Given the description of an element on the screen output the (x, y) to click on. 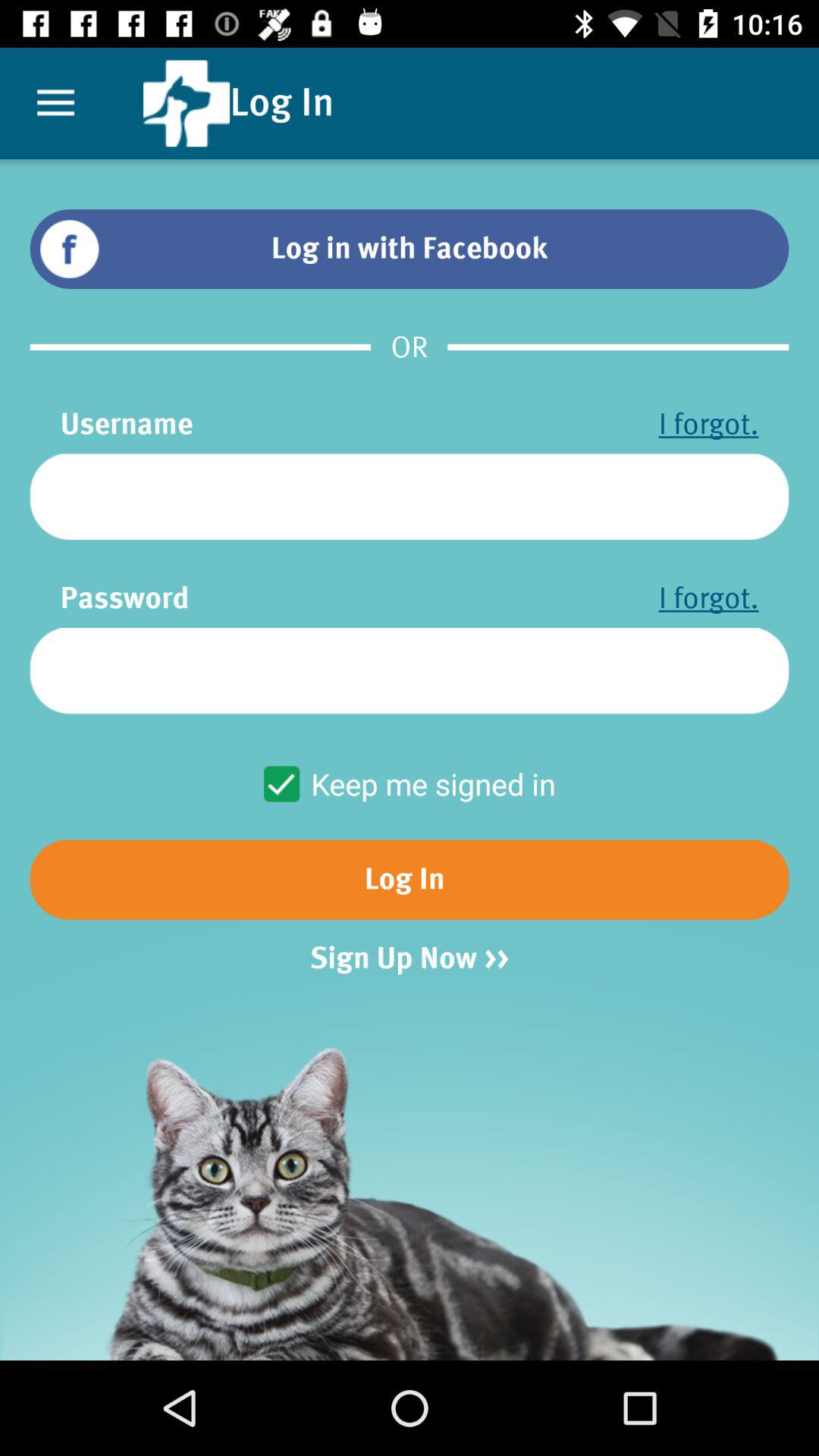
enter username (409, 496)
